Given the description of an element on the screen output the (x, y) to click on. 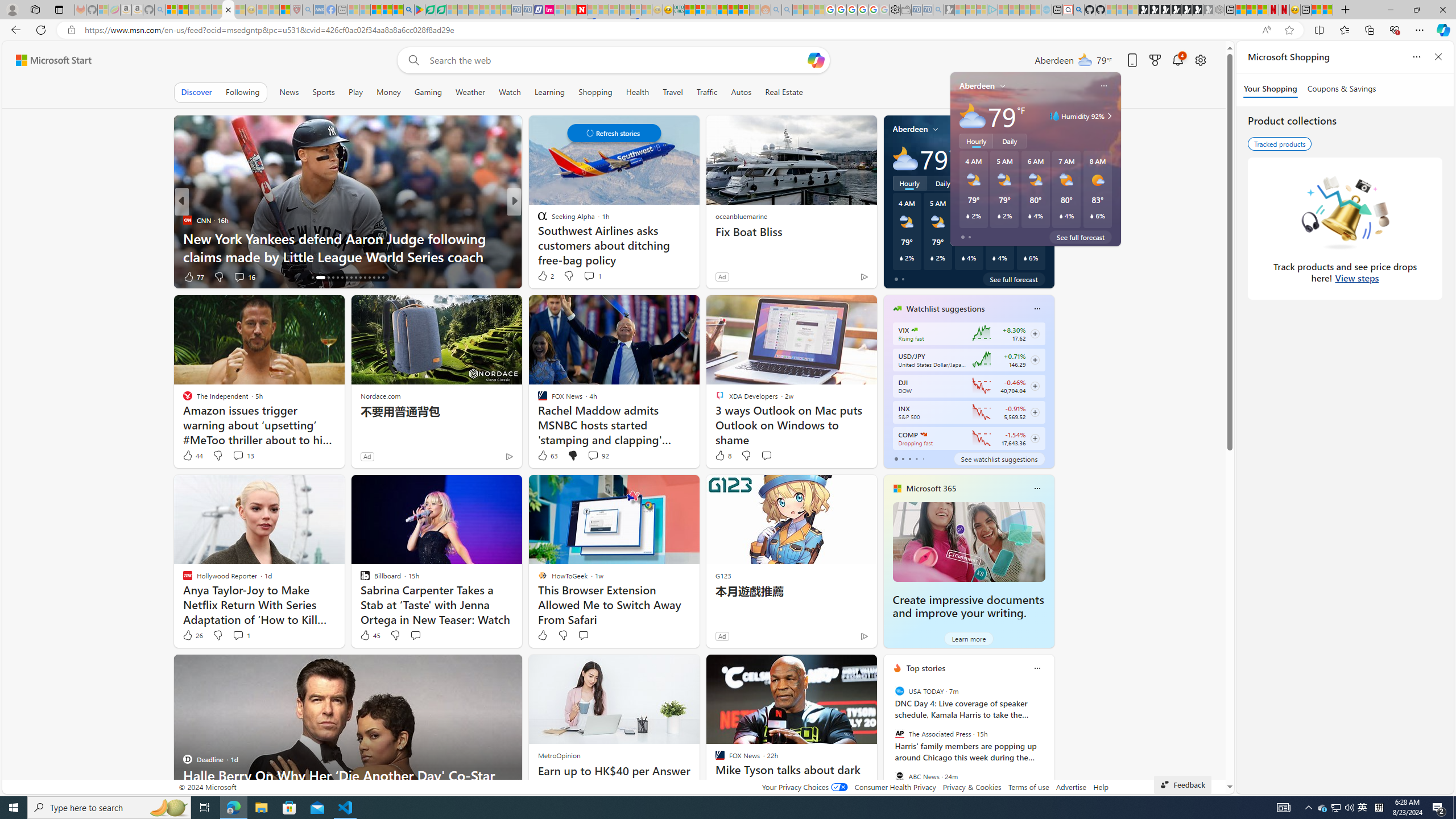
2 Like (545, 275)
Learn more (967, 638)
github - Search (1078, 9)
